Given the description of an element on the screen output the (x, y) to click on. 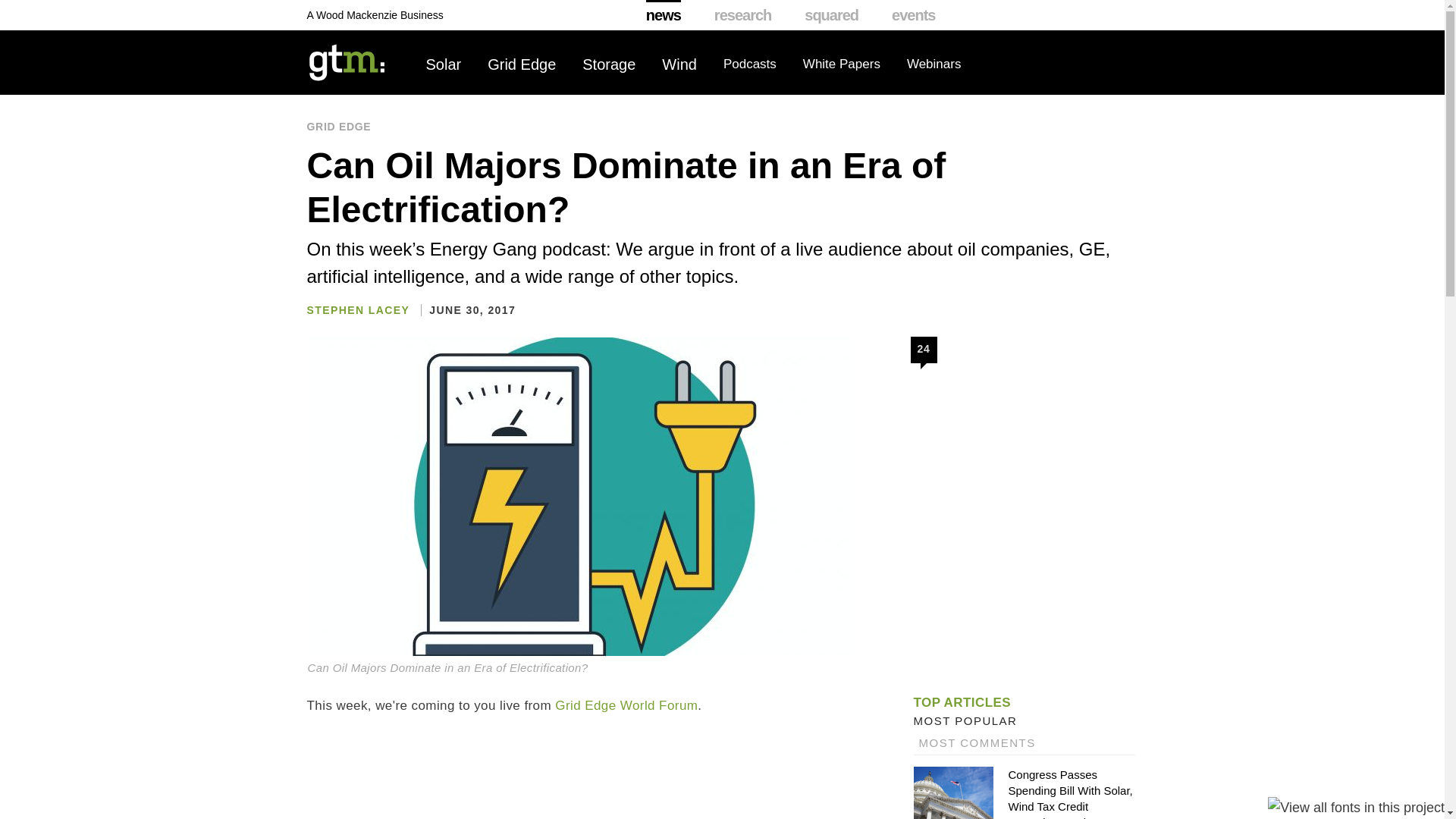
research (742, 15)
Wind (679, 64)
Solar (443, 64)
Podcasts (749, 64)
Storage (608, 64)
Grid Edge (521, 64)
events (912, 15)
White Papers (841, 64)
squared (832, 15)
news (663, 15)
